Given the description of an element on the screen output the (x, y) to click on. 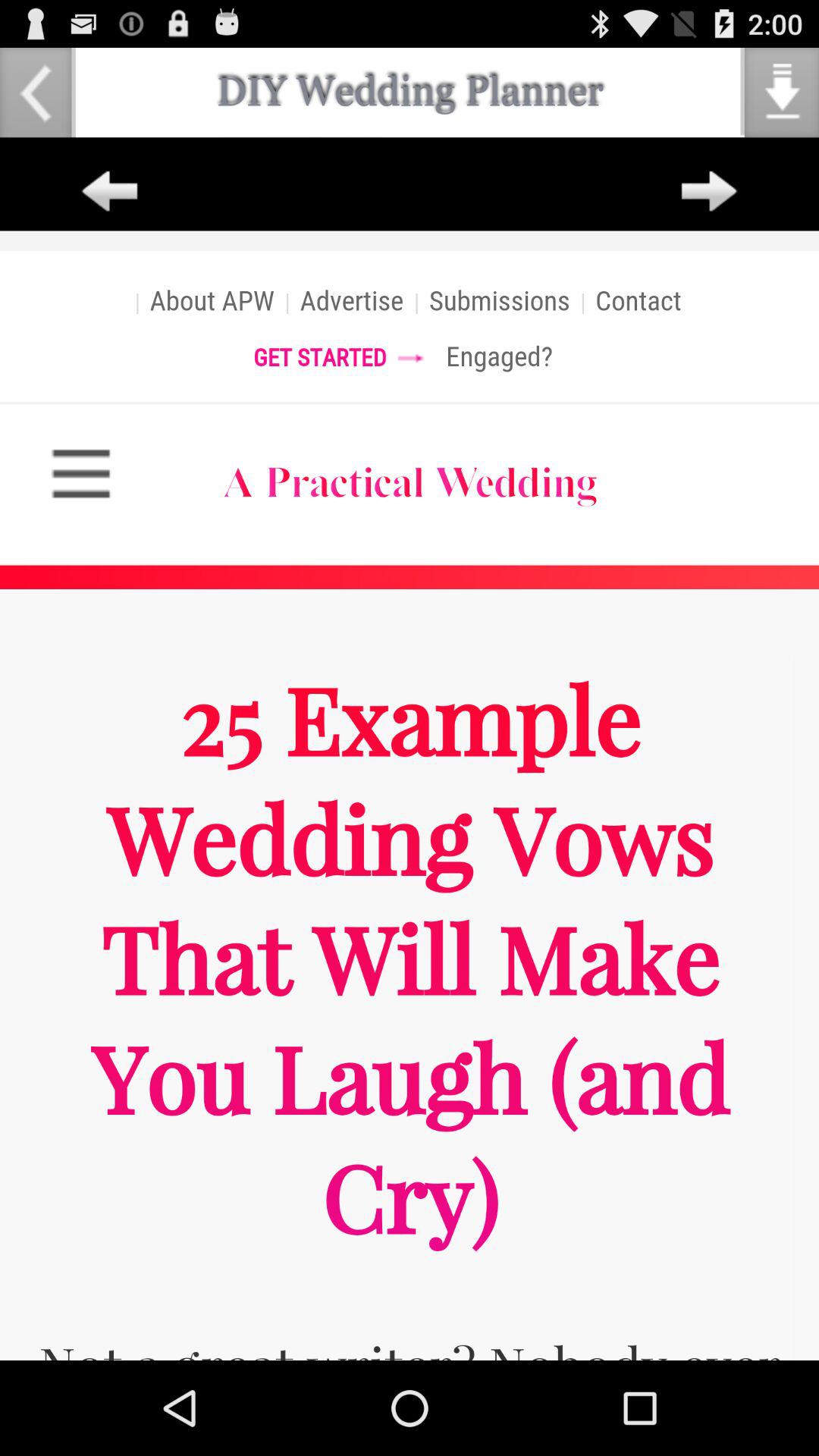
go back (109, 192)
